Given the description of an element on the screen output the (x, y) to click on. 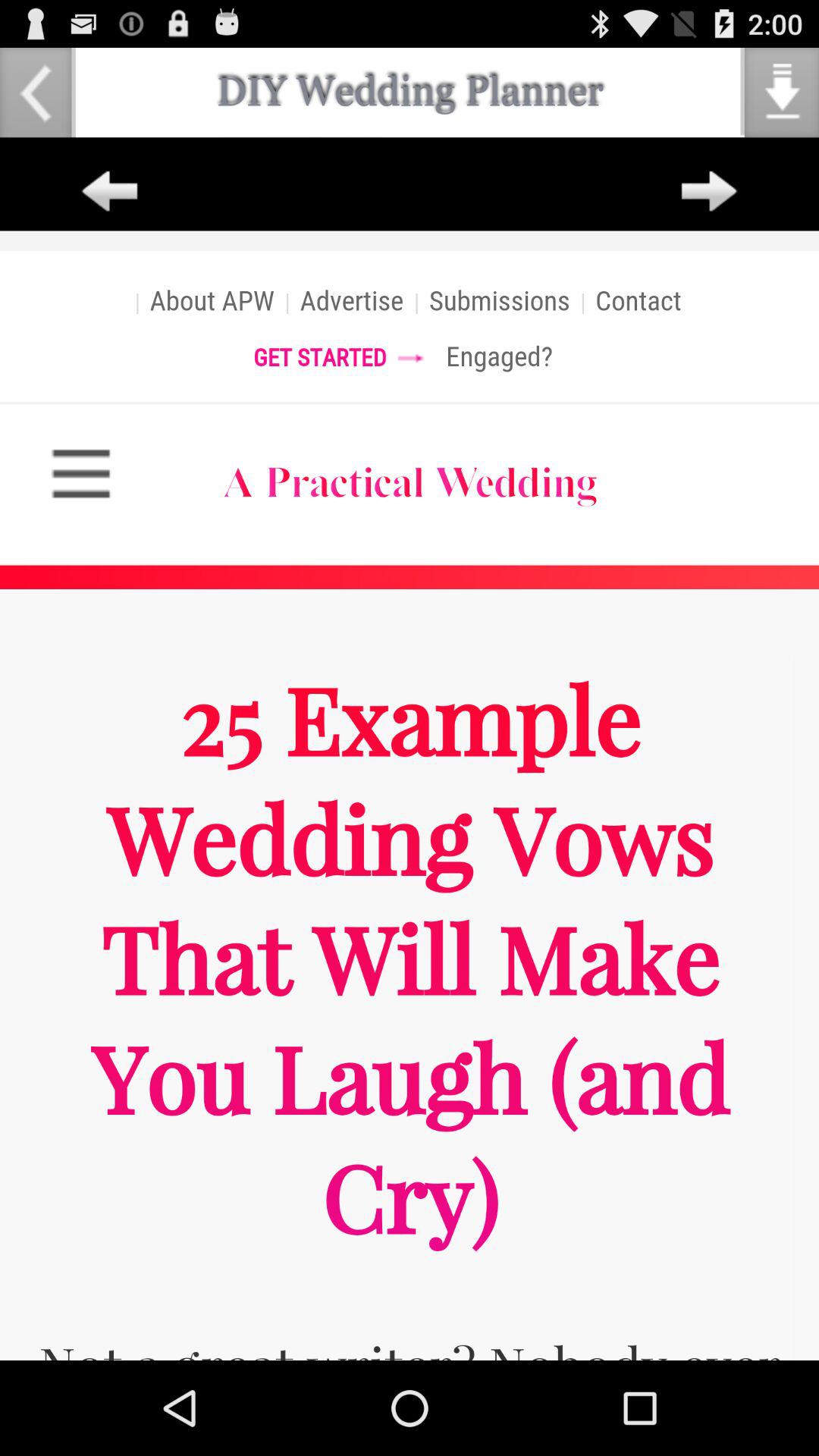
go back (109, 192)
